Given the description of an element on the screen output the (x, y) to click on. 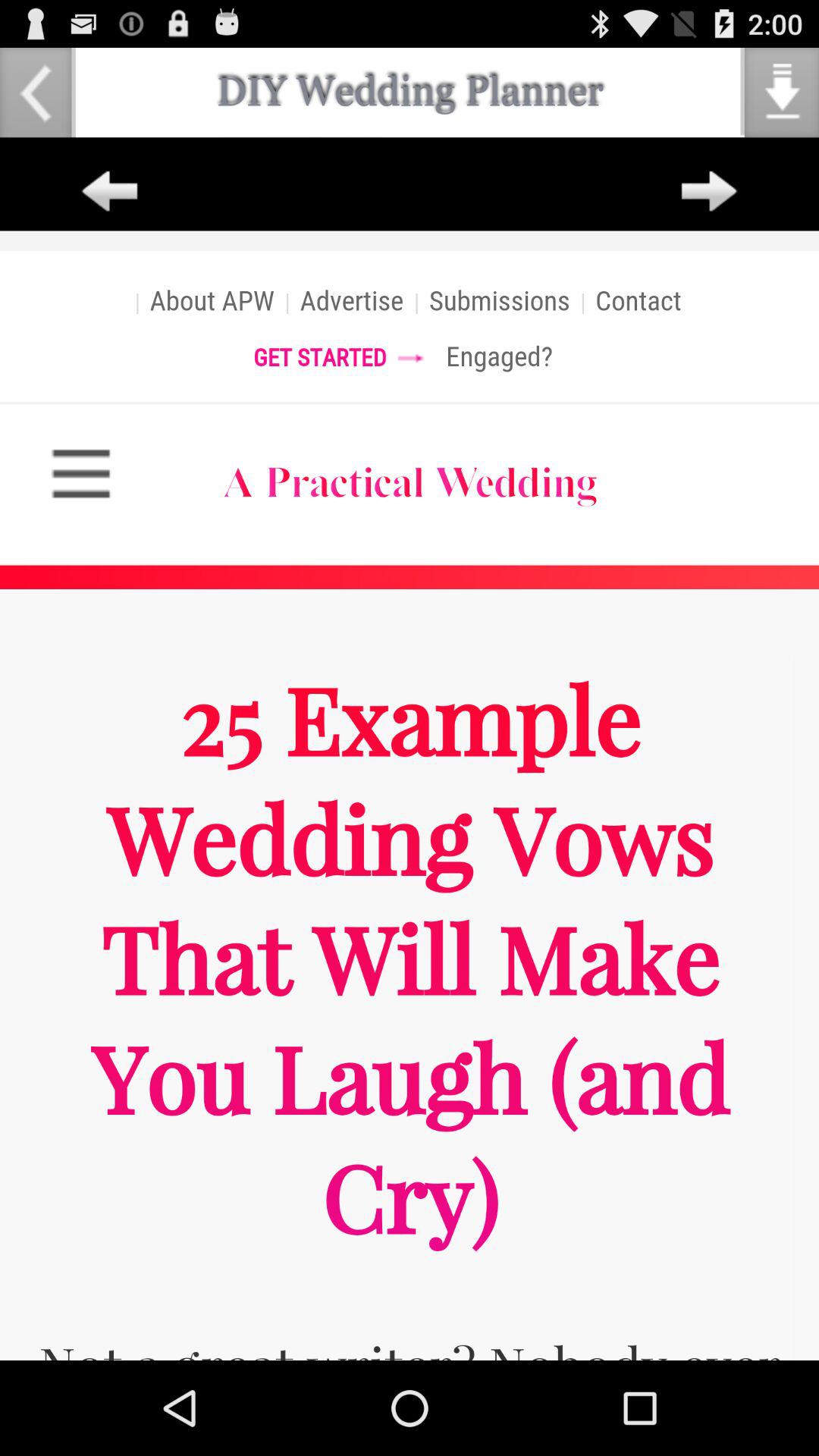
go back (109, 192)
